Given the description of an element on the screen output the (x, y) to click on. 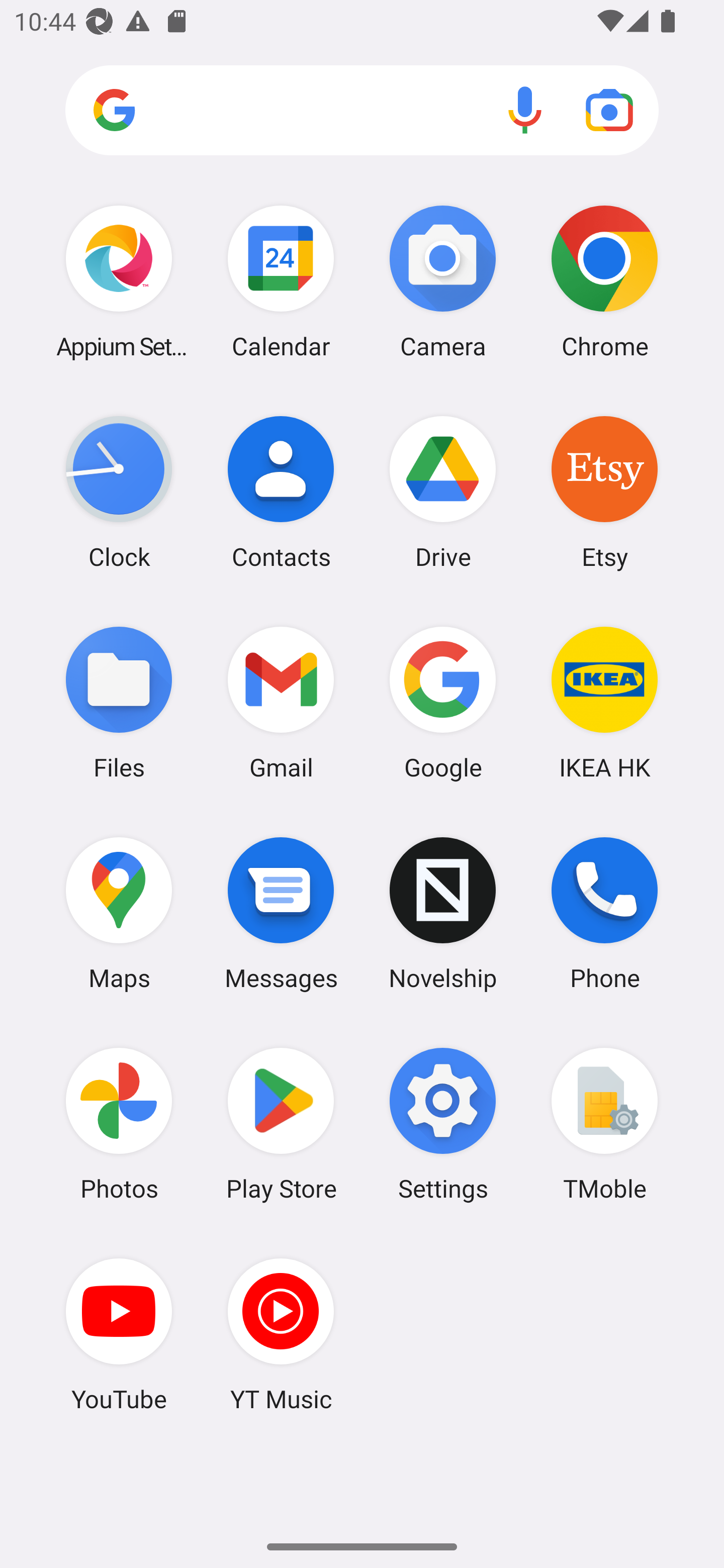
Search apps, web and more (361, 110)
Voice search (524, 109)
Google Lens (608, 109)
Appium Settings (118, 281)
Calendar (280, 281)
Camera (443, 281)
Chrome (604, 281)
Clock (118, 492)
Contacts (280, 492)
Drive (443, 492)
Etsy (604, 492)
Files (118, 702)
Gmail (280, 702)
Google (443, 702)
IKEA HK (604, 702)
Maps (118, 913)
Messages (280, 913)
Novelship (443, 913)
Phone (604, 913)
Photos (118, 1124)
Play Store (280, 1124)
Settings (443, 1124)
TMoble (604, 1124)
YouTube (118, 1334)
YT Music (280, 1334)
